Given the description of an element on the screen output the (x, y) to click on. 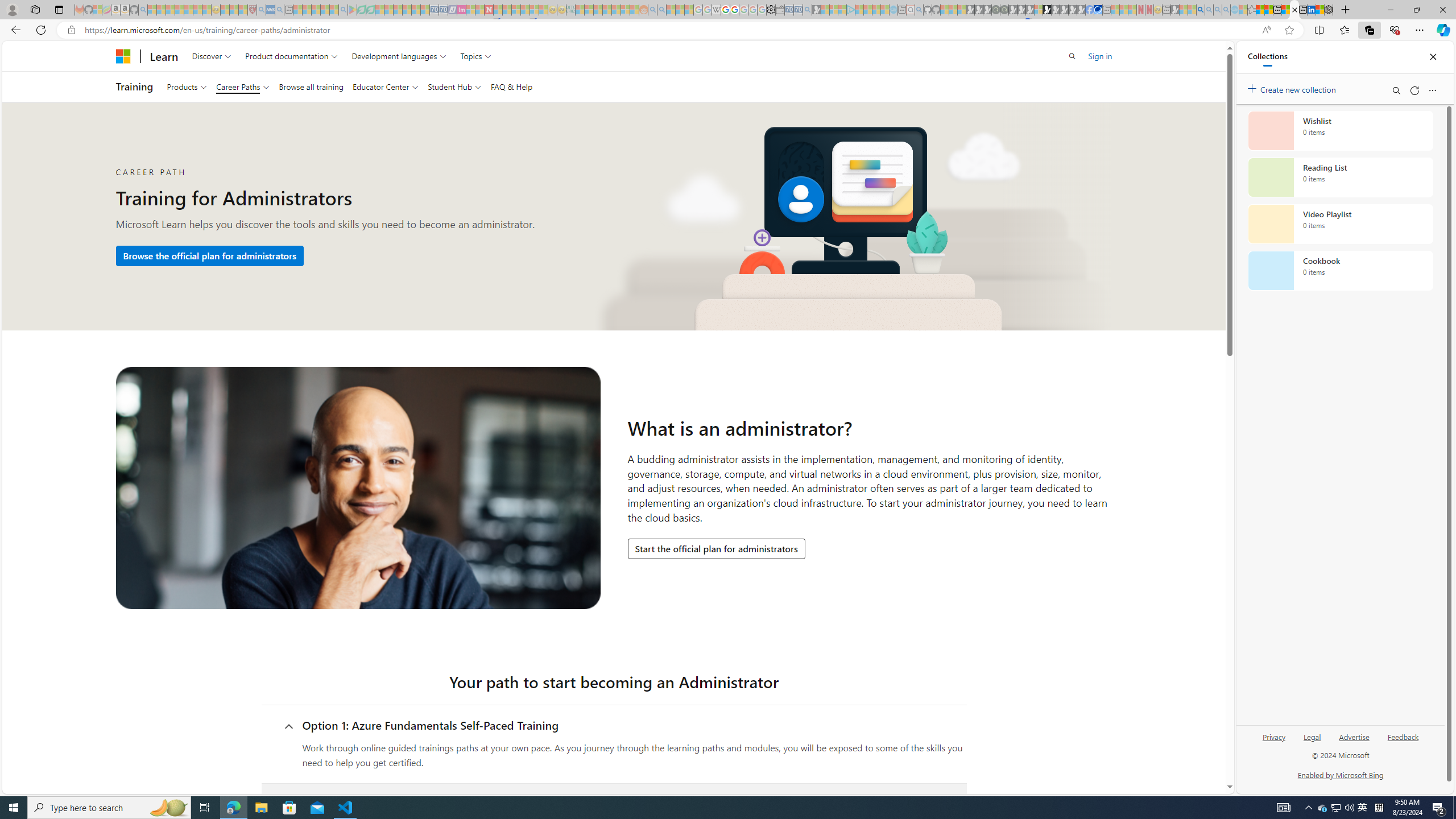
Reading List collection, 0 items (1339, 177)
